Given the description of an element on the screen output the (x, y) to click on. 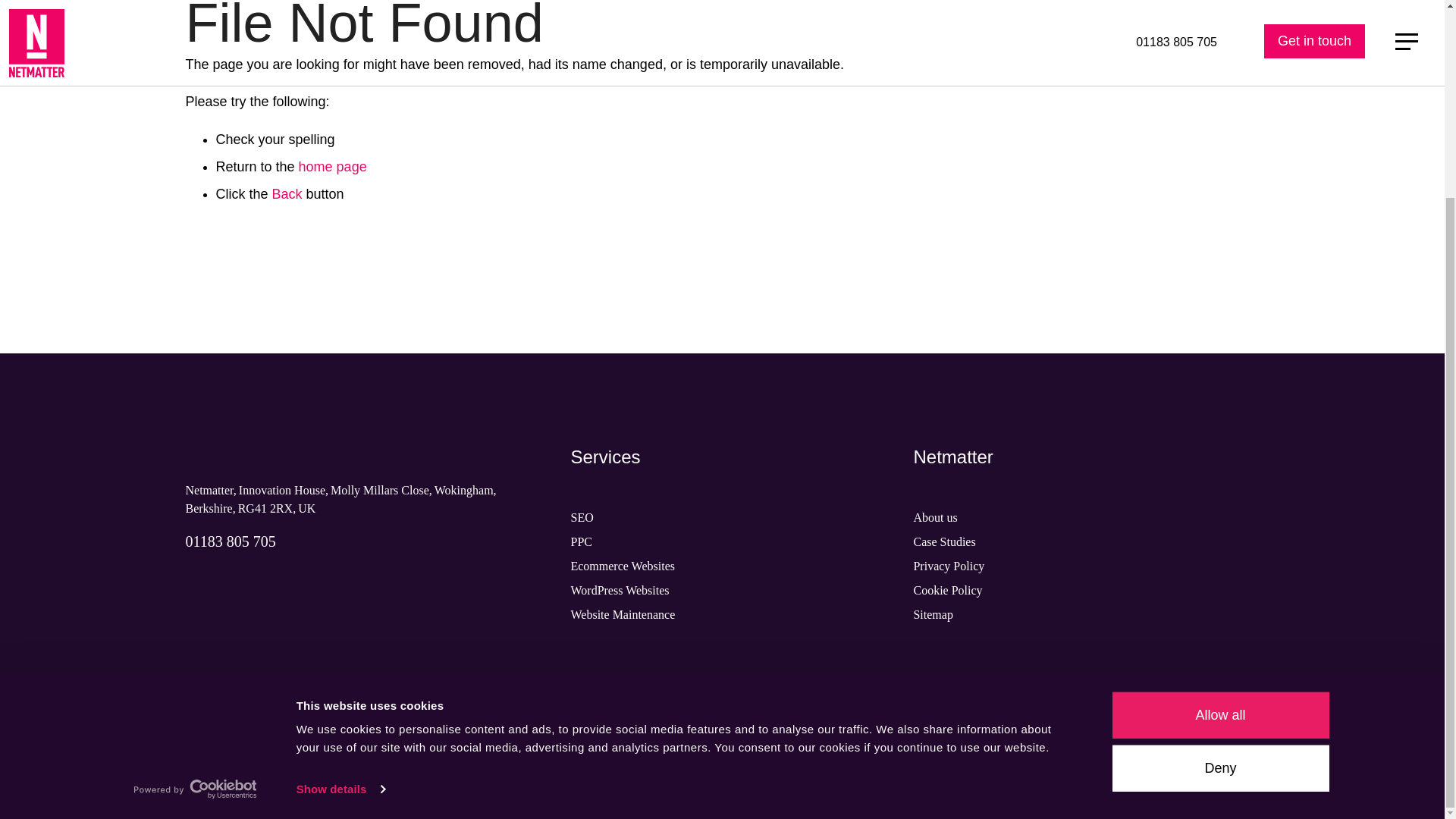
Show details (340, 538)
Allow all (1219, 464)
Deny (1219, 517)
